Given the description of an element on the screen output the (x, y) to click on. 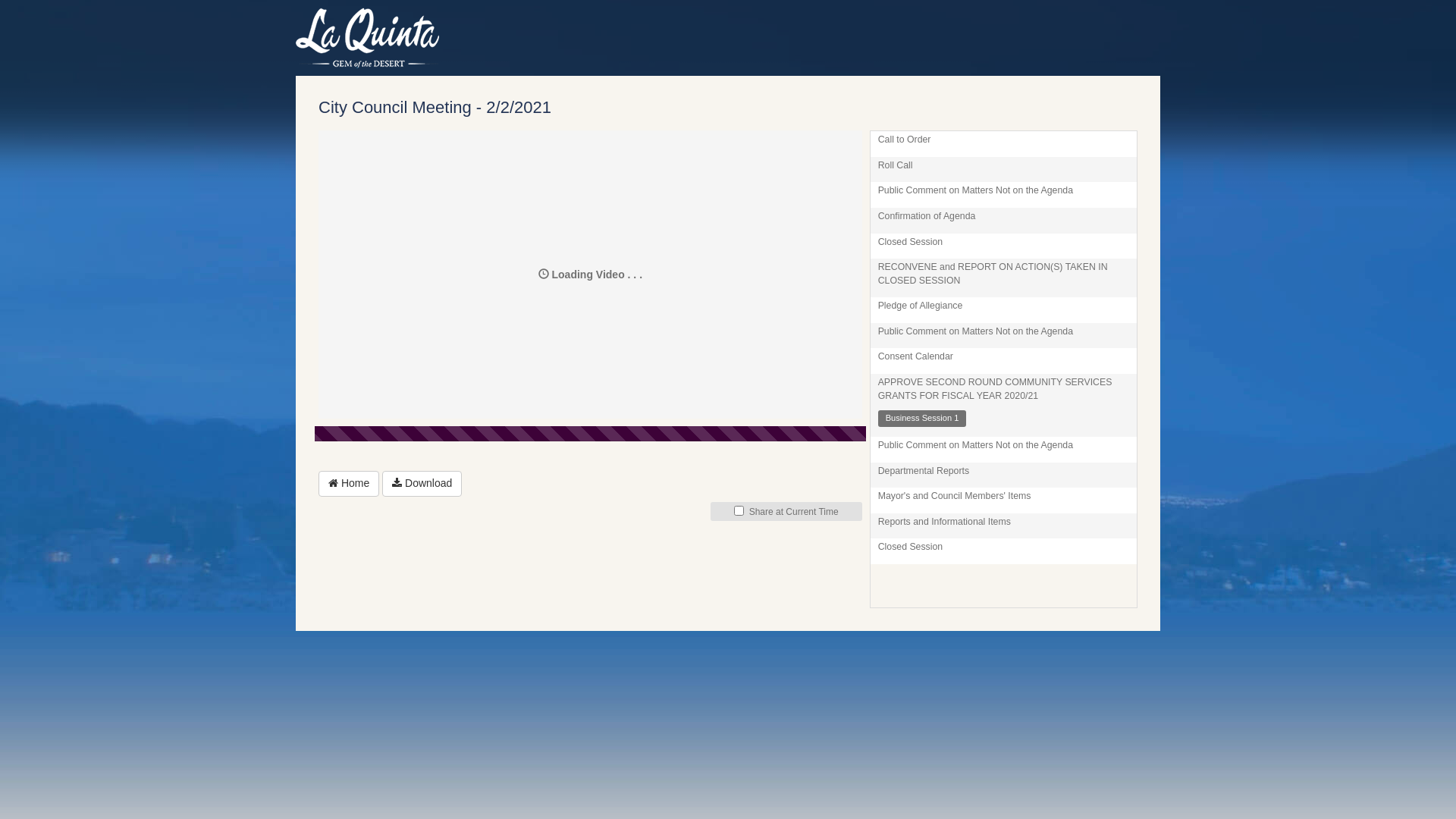
Download Element type: text (421, 483)
Home Element type: text (348, 483)
City of La Quinta Meeting Video Archive Element type: text (509, 37)
